Given the description of an element on the screen output the (x, y) to click on. 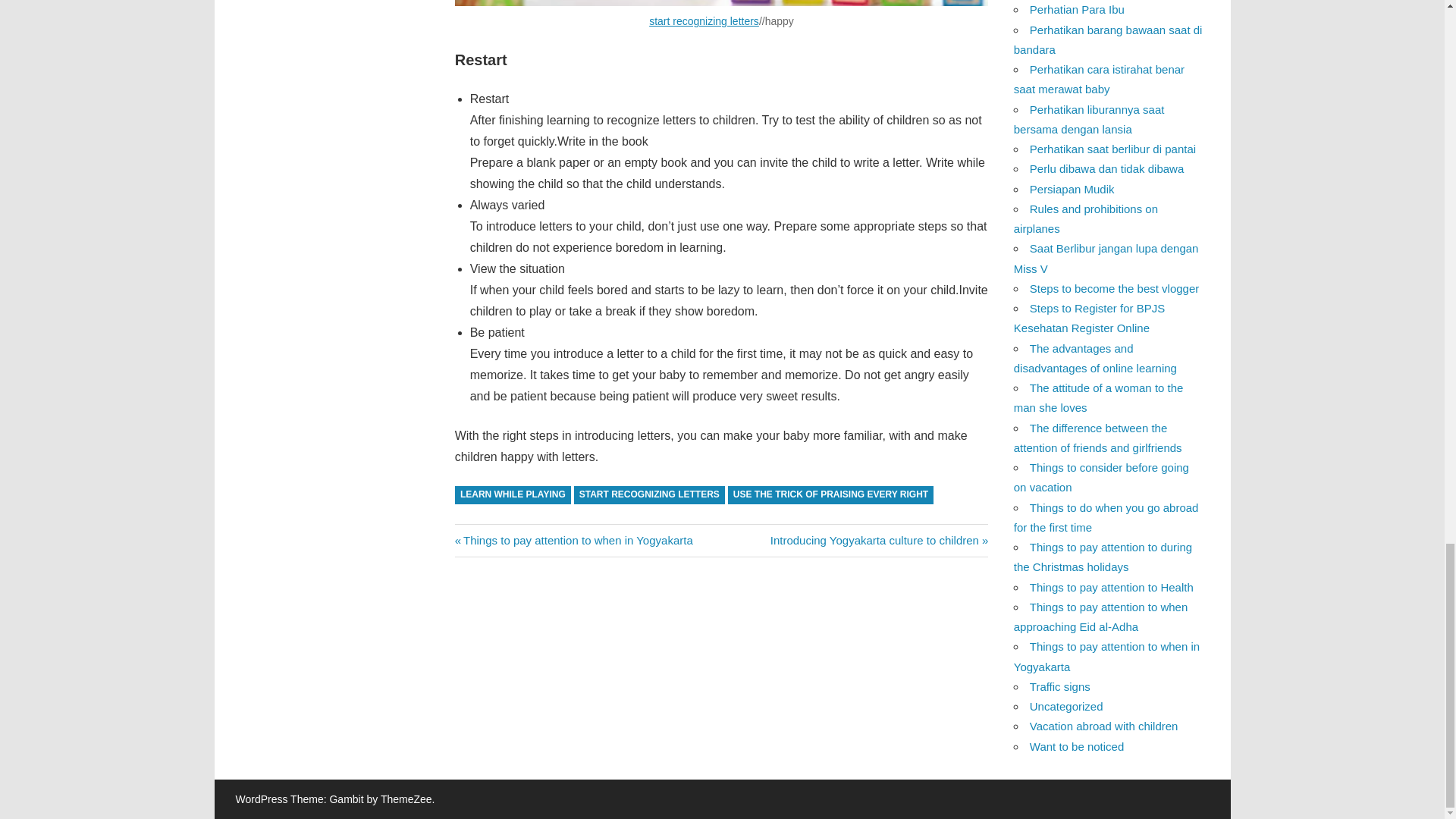
USE THE TRICK OF PRAISING EVERY RIGHT (879, 540)
LEARN WHILE PLAYING (573, 540)
start recognizing letters (831, 495)
START RECOGNIZING LETTERS (512, 495)
